Given the description of an element on the screen output the (x, y) to click on. 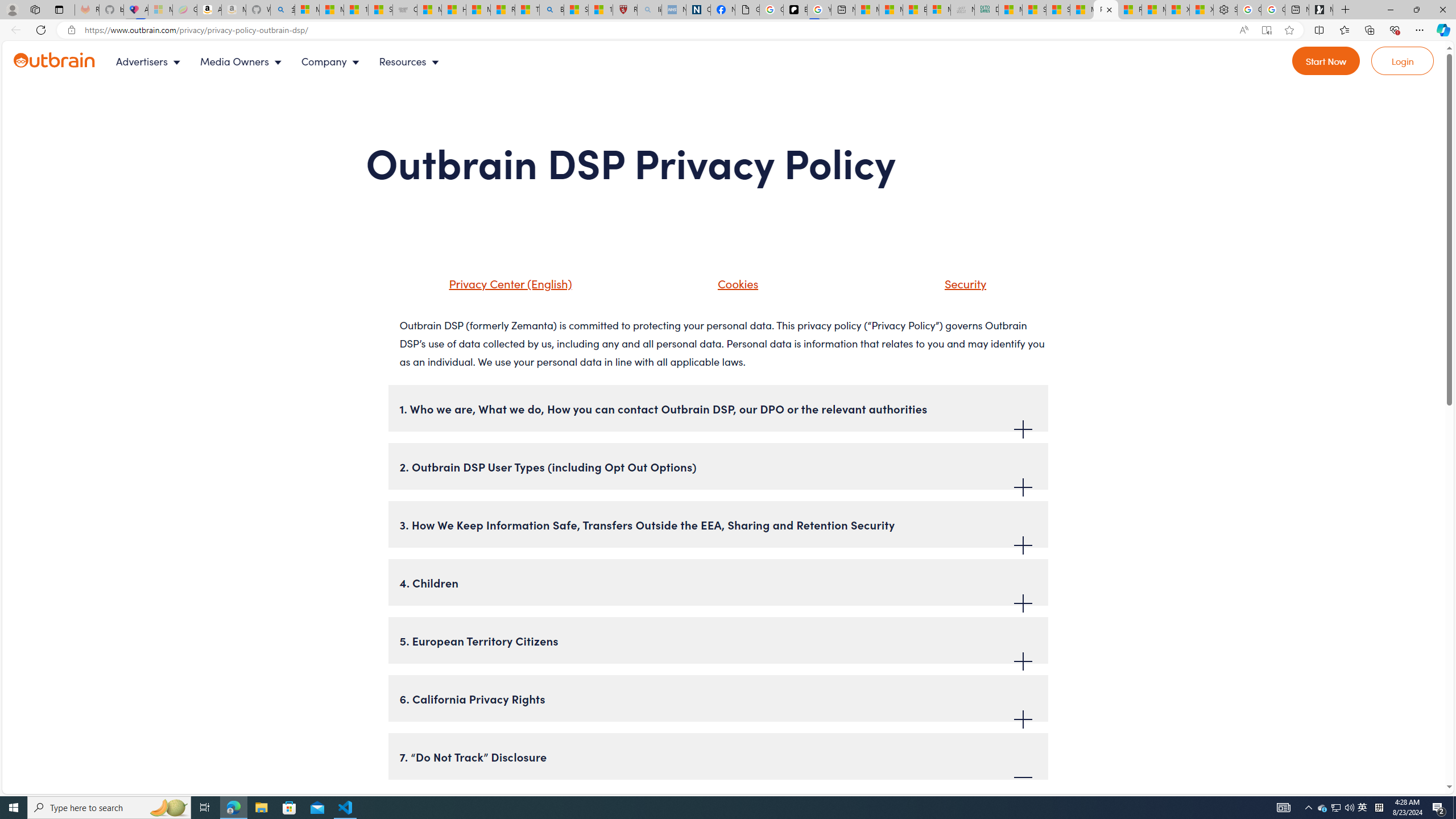
Company (333, 61)
Google Analytics Opt-out Browser Add-on Download Page (747, 9)
Outbrain logo - link to homepage (67, 61)
Cookies (734, 282)
